Given the description of an element on the screen output the (x, y) to click on. 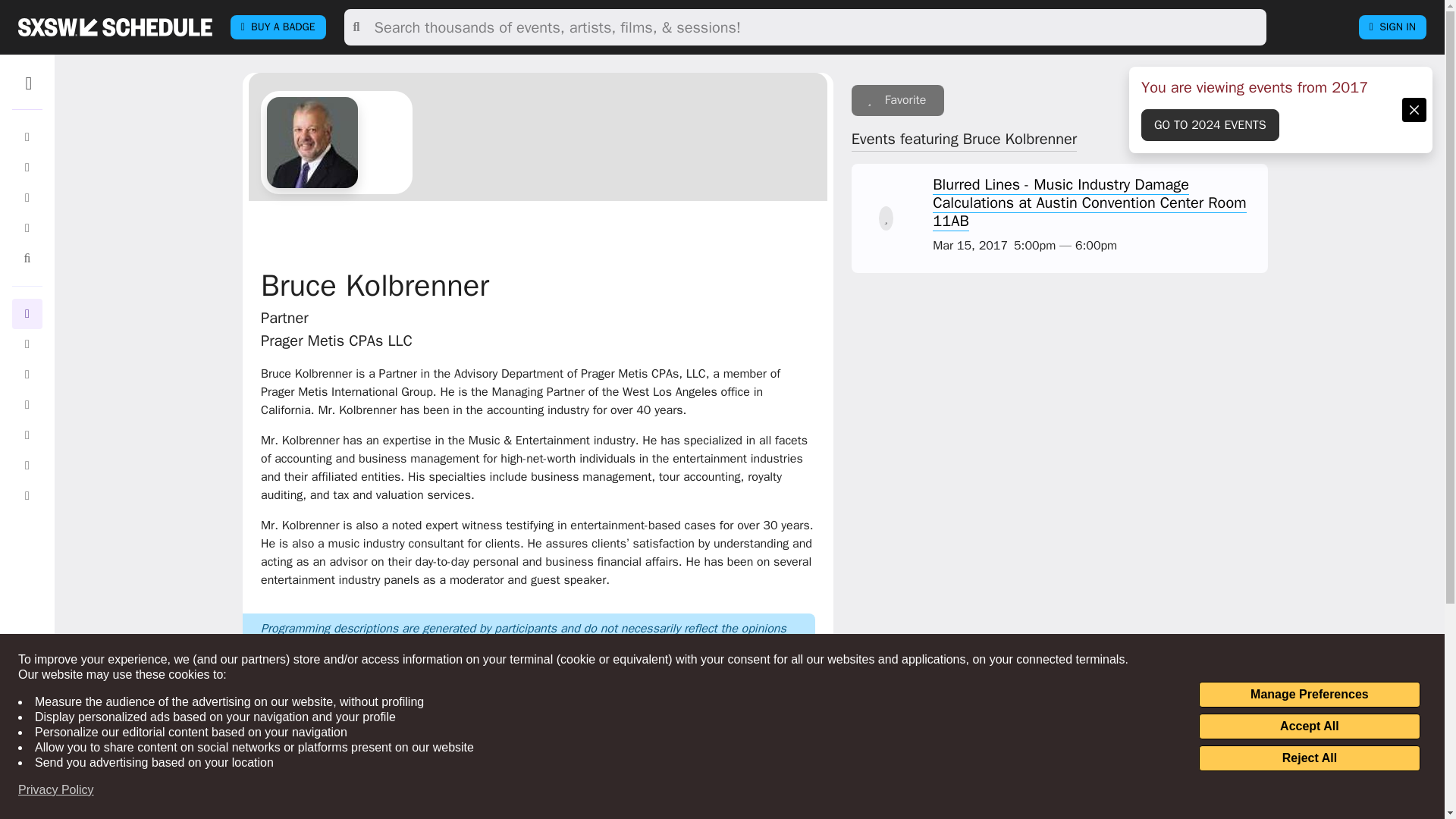
SIGN IN (1392, 27)
sxsw SCHEDULE (114, 27)
Manage Preferences (1309, 694)
Reject All (1309, 758)
Accept All (1309, 726)
Privacy Policy (55, 789)
GO TO 2024 EVENTS (1210, 124)
Sign In to add to your favorites. (897, 100)
BUY A BADGE (278, 27)
